Given the description of an element on the screen output the (x, y) to click on. 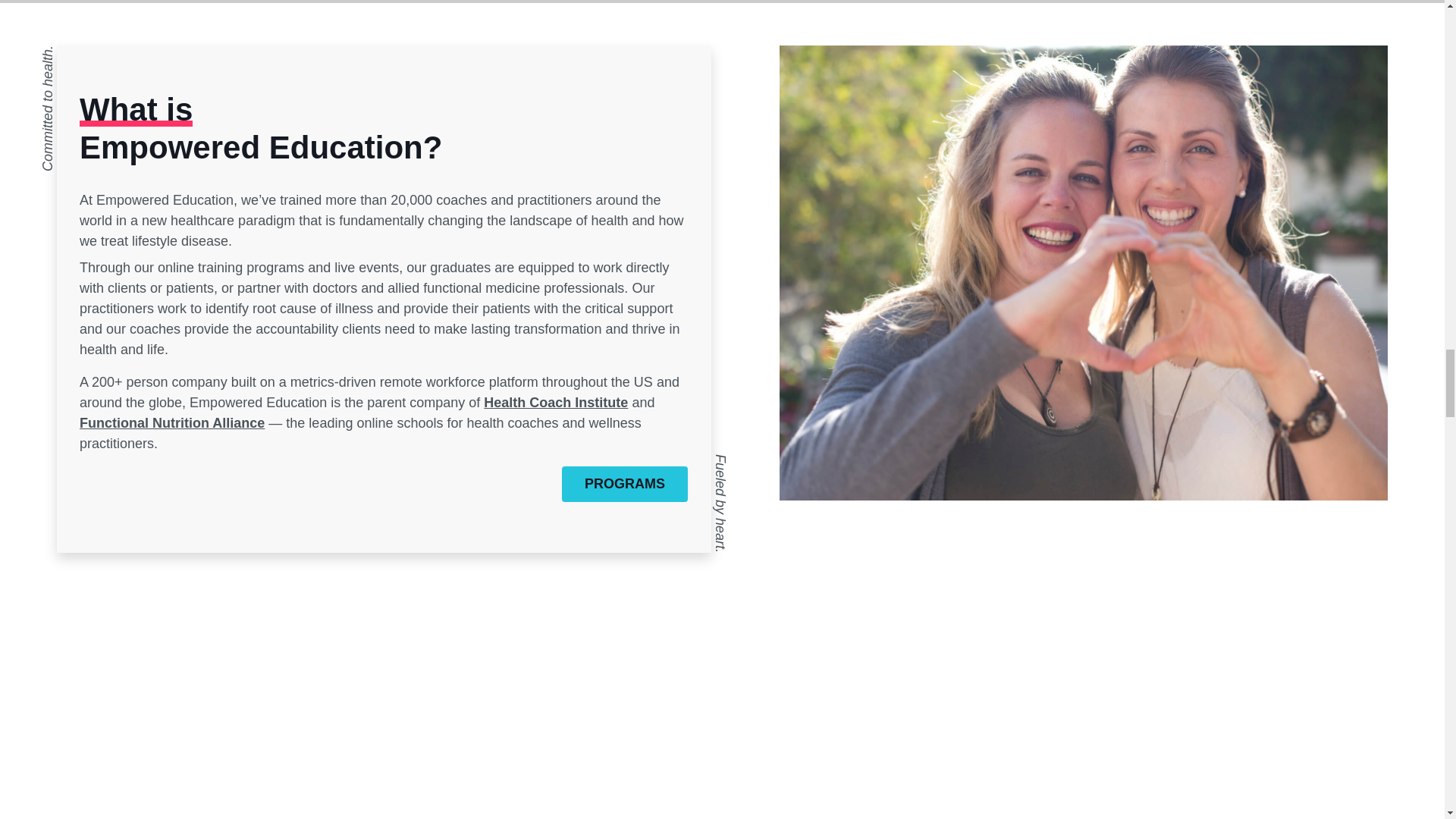
Health Coach Institute (555, 402)
Functional Nutrition Alliance (172, 422)
PROGRAMS (624, 484)
